Given the description of an element on the screen output the (x, y) to click on. 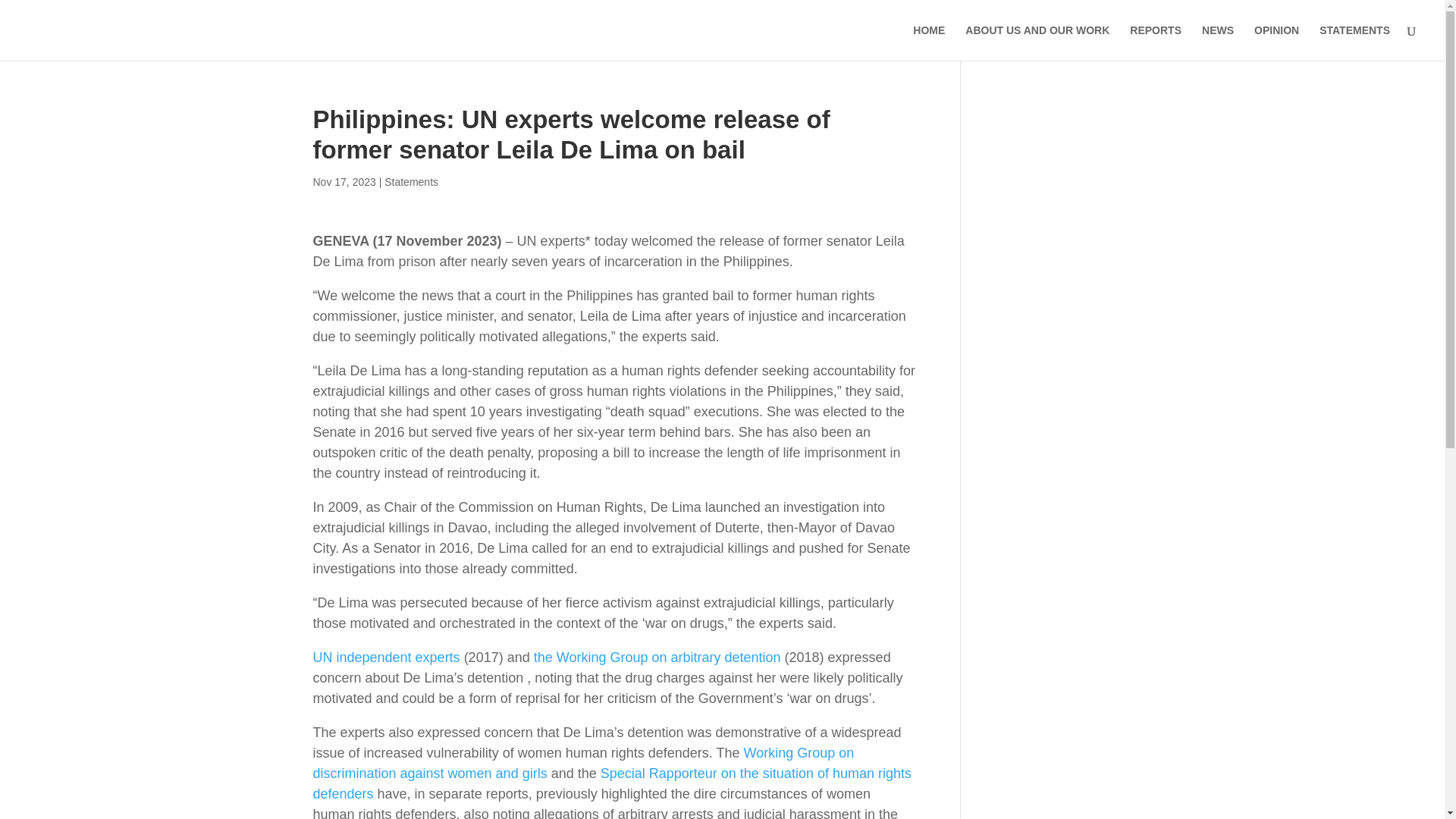
Statements (411, 182)
HOME (928, 42)
UN independent experts (386, 657)
the Working Group on arbitrary detention (657, 657)
REPORTS (1154, 42)
NEWS (1217, 42)
OPINION (1275, 42)
ABOUT US AND OUR WORK (1037, 42)
Working Group on discrimination against women and girls (583, 763)
